Given the description of an element on the screen output the (x, y) to click on. 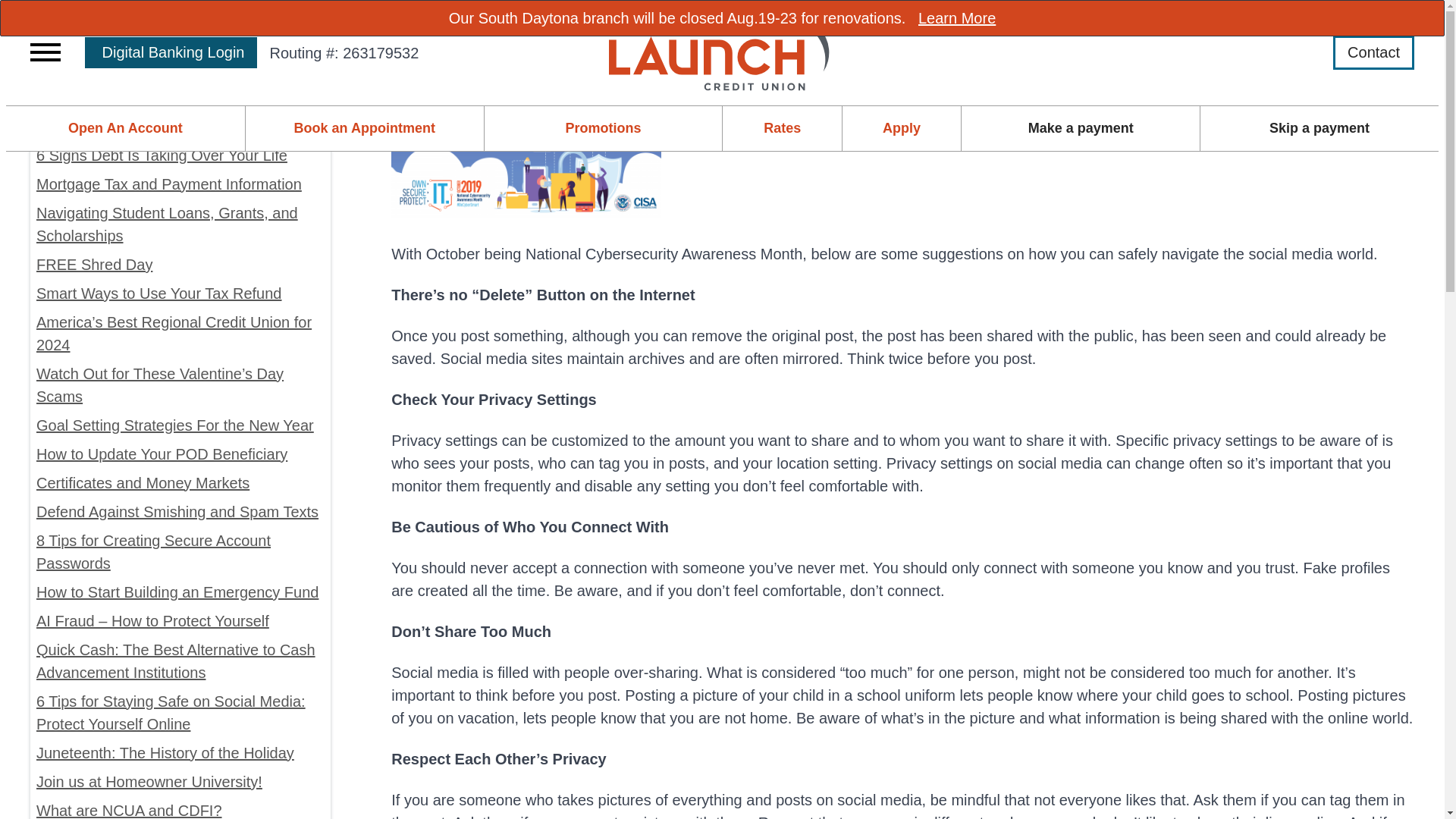
Learn More (956, 17)
Decrease font size (893, 22)
Increase font size (913, 22)
